Given the description of an element on the screen output the (x, y) to click on. 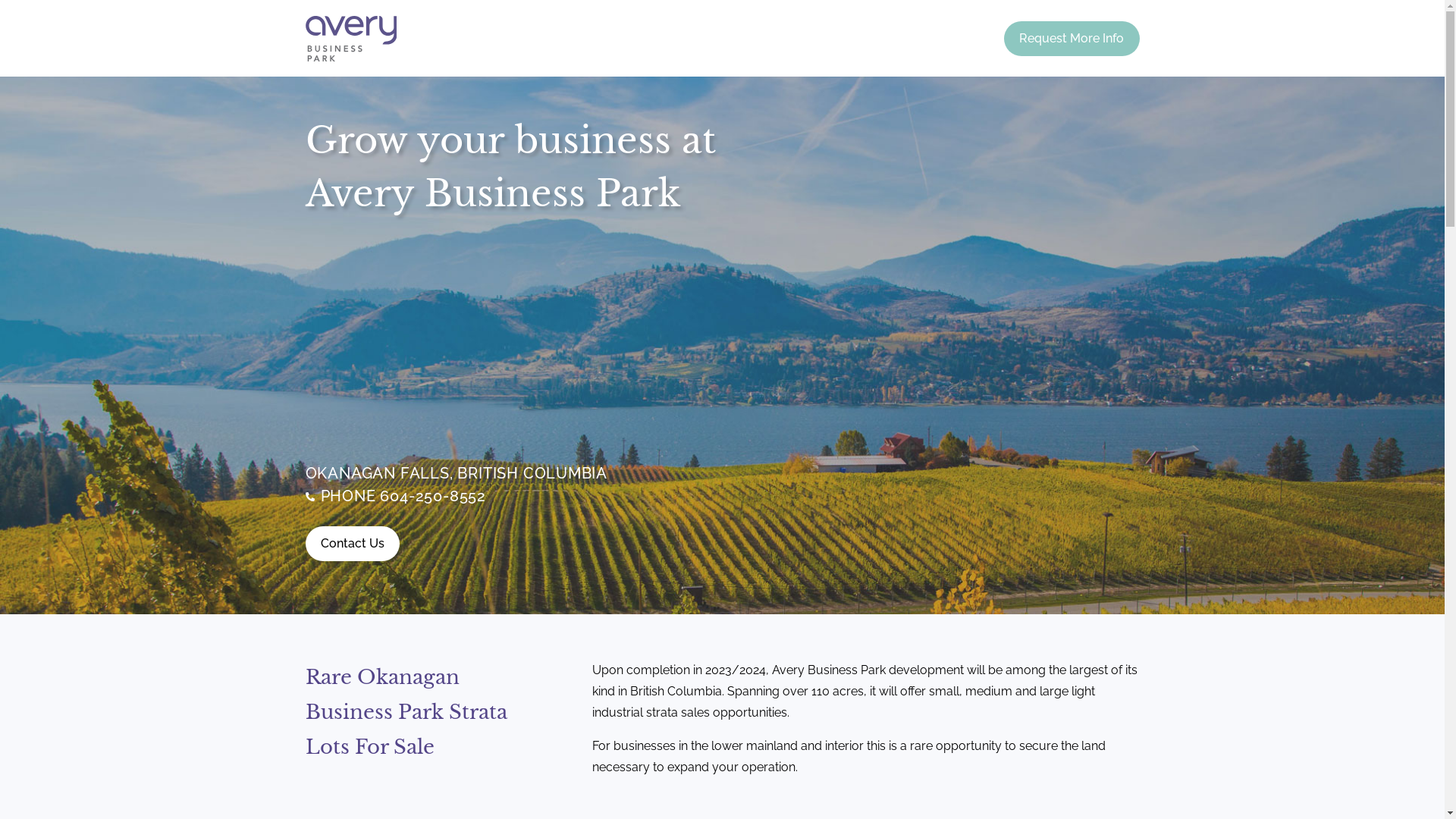
Request More Info Element type: text (1071, 38)
Contact Us Element type: text (351, 543)
Avery Group Element type: text (349, 38)
